Given the description of an element on the screen output the (x, y) to click on. 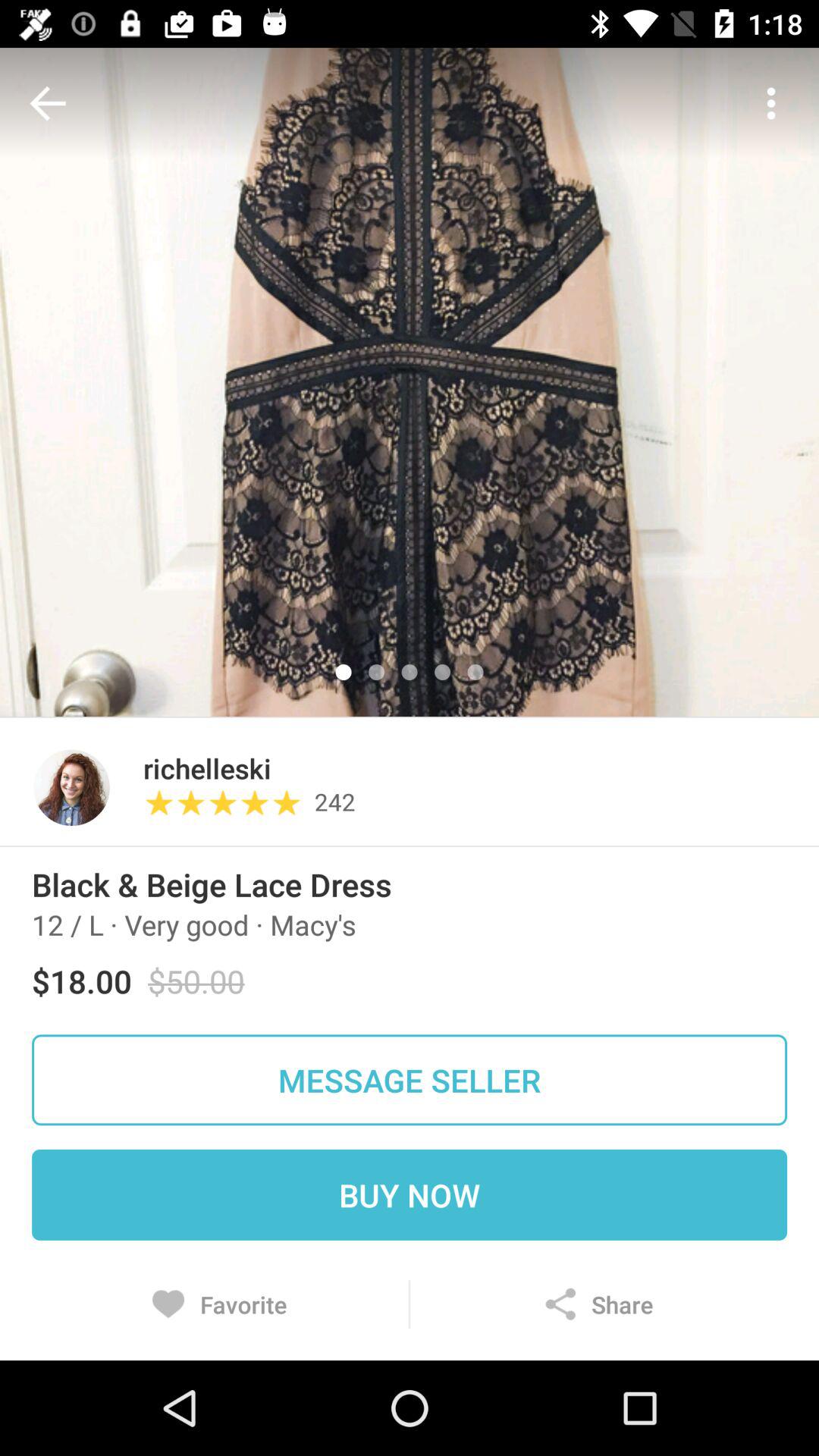
flip until the buy now icon (409, 1194)
